Given the description of an element on the screen output the (x, y) to click on. 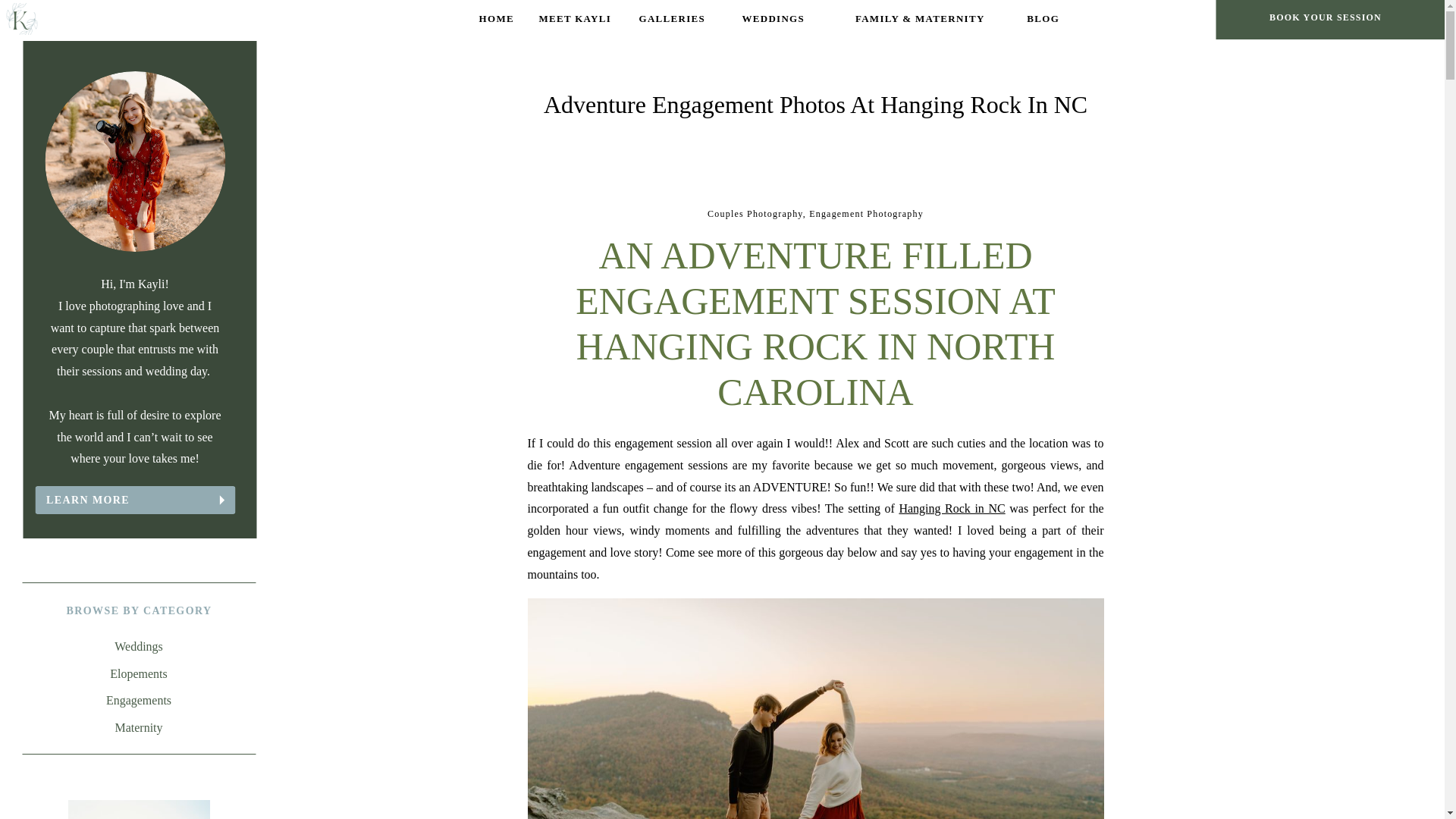
Maternity (138, 728)
MEET KAYLI (575, 19)
Engagements (138, 700)
BROWSE BY CATEGORY (138, 610)
Engagement Photography (866, 213)
WEDDINGS (772, 19)
Couples Photography (755, 213)
BOOK YOUR SESSION (1325, 19)
Weddings (138, 647)
BLOG (1042, 19)
